Given the description of an element on the screen output the (x, y) to click on. 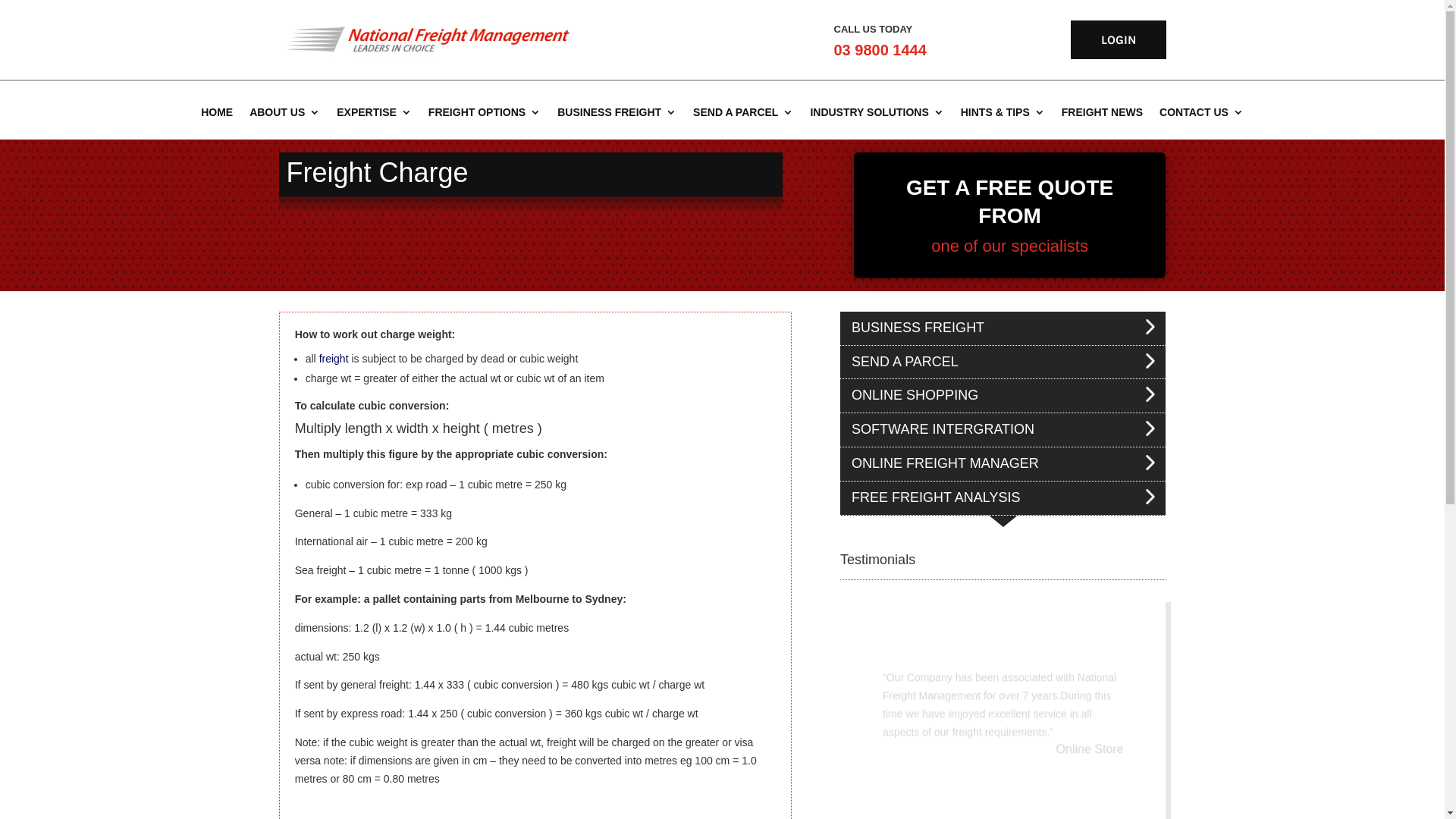
CONTACT US Element type: text (1201, 111)
FREIGHT OPTIONS Element type: text (484, 111)
INDUSTRY SOLUTIONS Element type: text (876, 111)
HINTS & TIPS Element type: text (1002, 111)
FREIGHT NEWS Element type: text (1101, 111)
image001 Element type: hover (428, 38)
freight Element type: text (333, 358)
EXPERTISE Element type: text (373, 111)
BUSINESS FREIGHT Element type: text (616, 111)
SEND A PARCEL Element type: text (743, 111)
ABOUT US Element type: text (284, 111)
HOME Element type: text (216, 111)
LOGIN Element type: text (1118, 39)
